Given the description of an element on the screen output the (x, y) to click on. 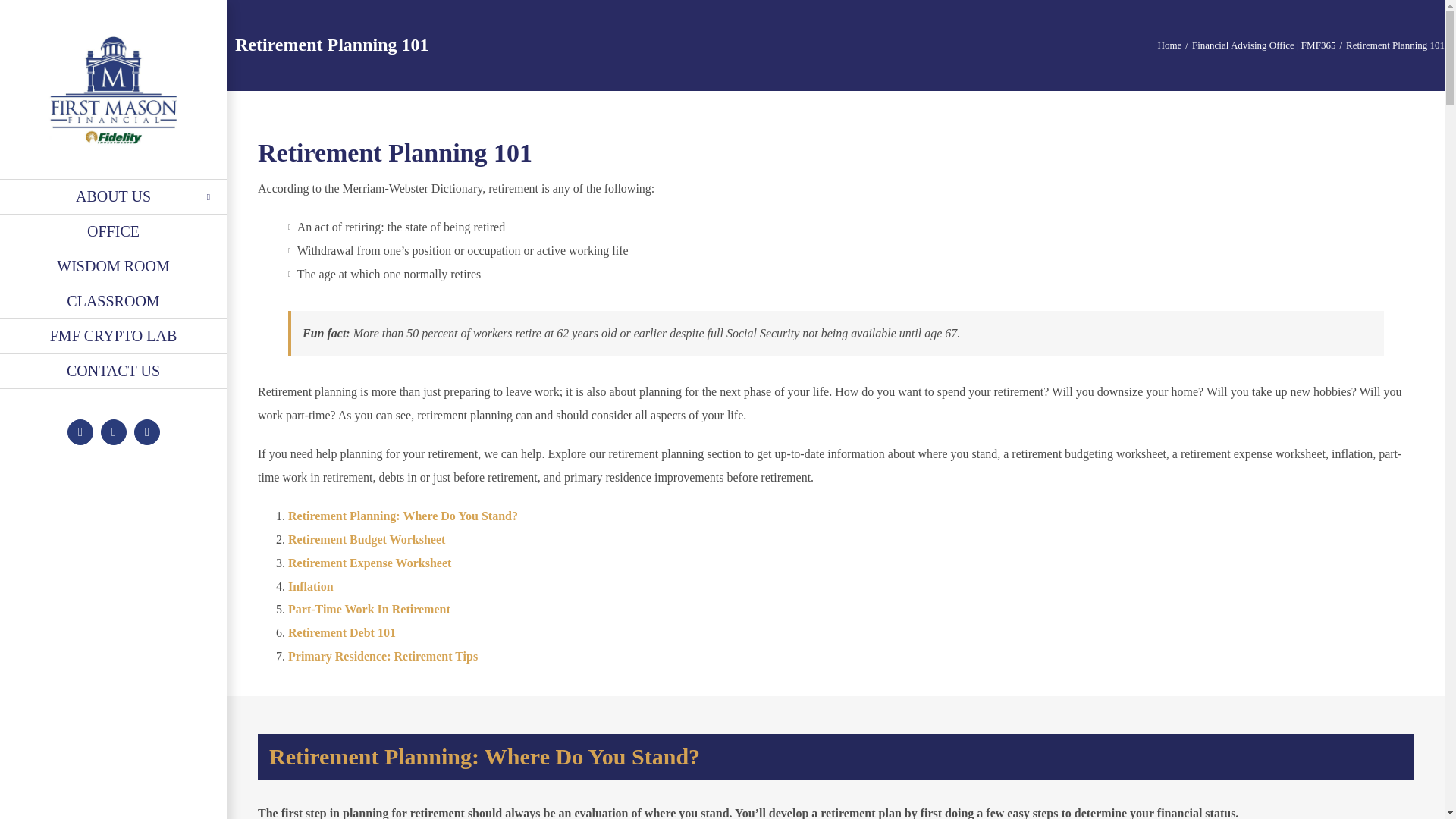
OFFICE (113, 231)
WISDOM ROOM (113, 266)
Retirement Debt 101 (342, 632)
Inflation (310, 585)
CONTACT US (113, 371)
FMF CRYPTO LAB (113, 336)
Retirement Planning: Where Do You Stand? (403, 515)
Facebook (79, 432)
ABOUT US (113, 196)
Part-Time Work In Retirement (368, 608)
CLASSROOM (113, 301)
Retirement Expense Worksheet (369, 562)
Email (146, 432)
Retirement Budget Worksheet (366, 539)
Home (1169, 44)
